Given the description of an element on the screen output the (x, y) to click on. 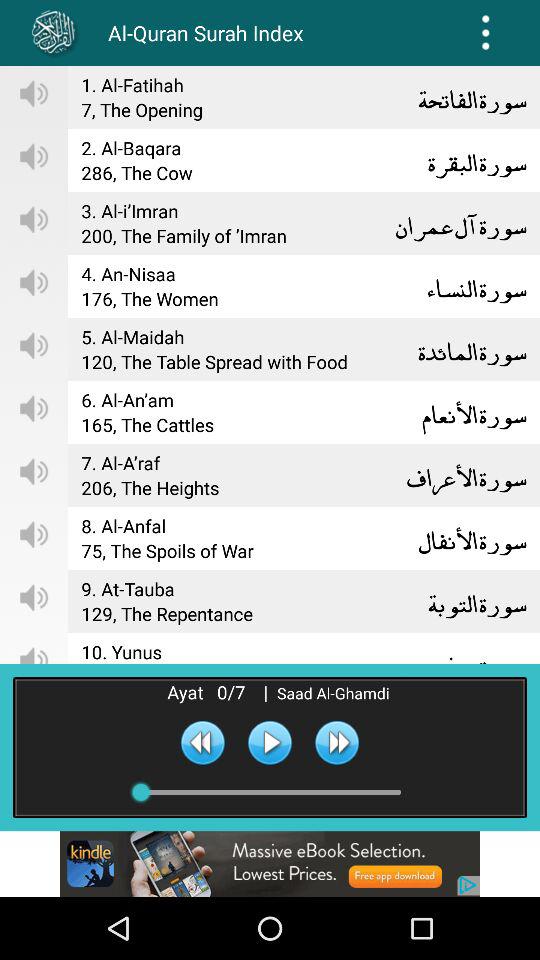
play track (269, 742)
